Given the description of an element on the screen output the (x, y) to click on. 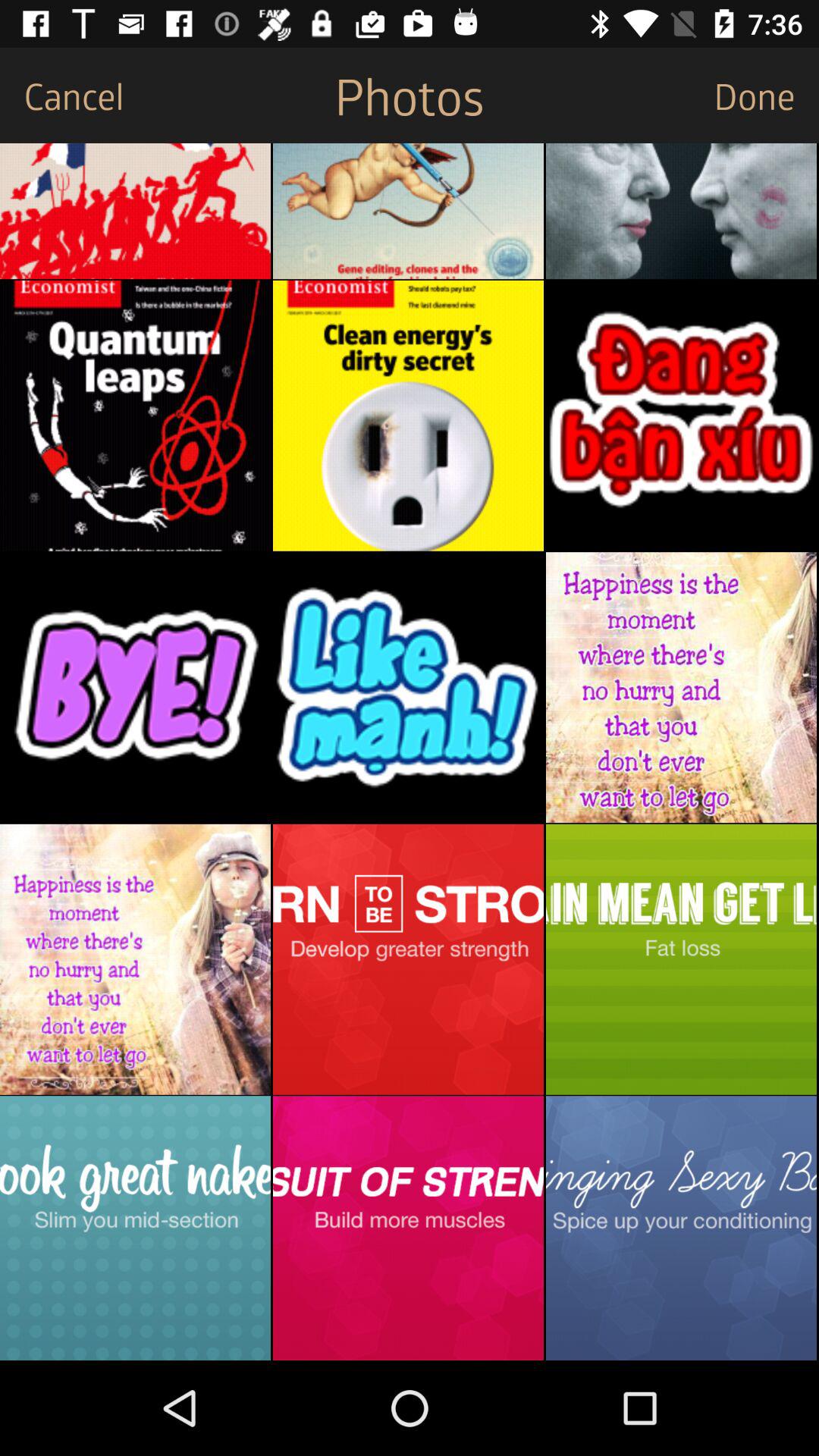
look at a photo (408, 687)
